Given the description of an element on the screen output the (x, y) to click on. 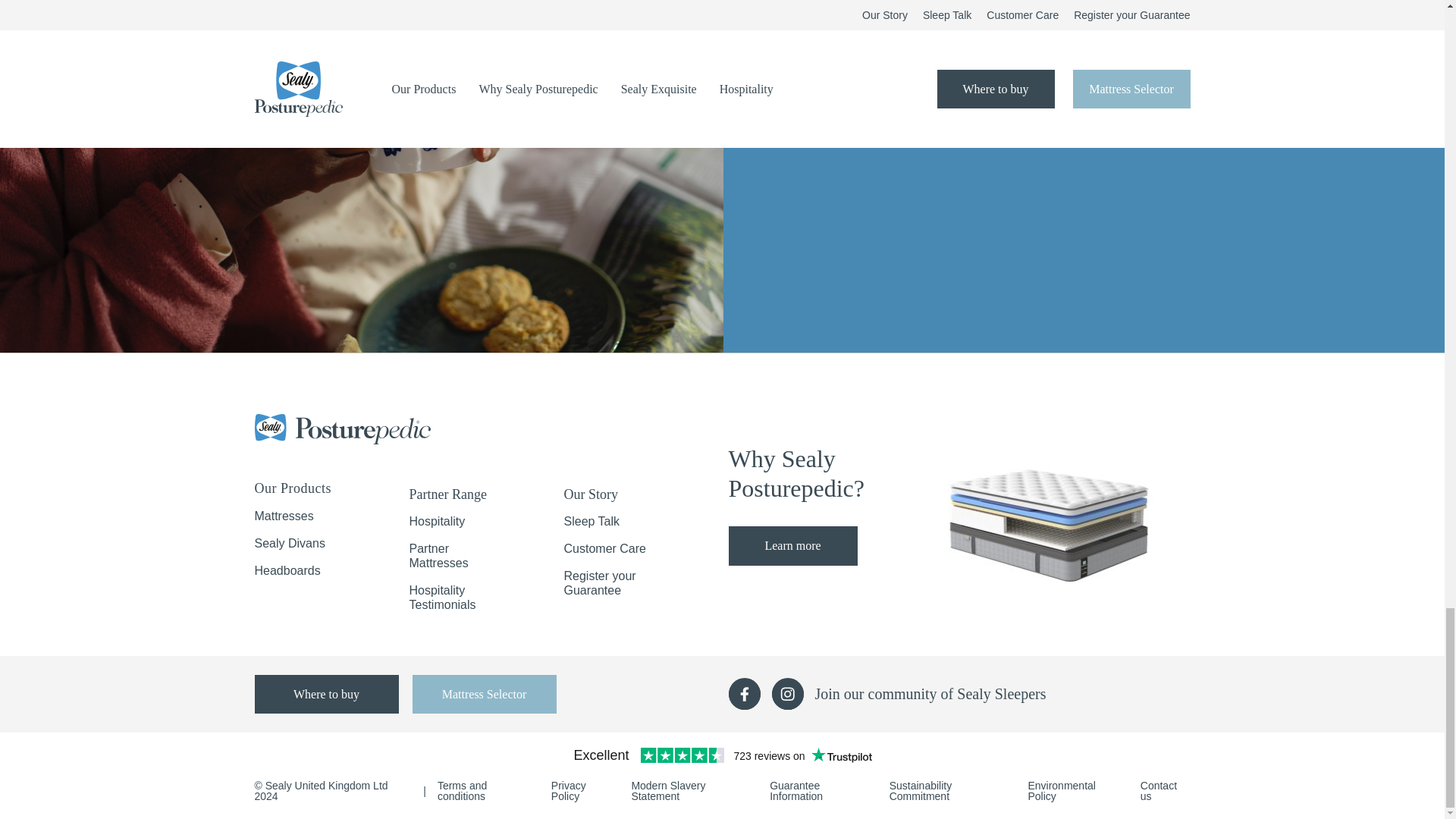
Customer reviews powered by Trustpilot (722, 754)
